Given the description of an element on the screen output the (x, y) to click on. 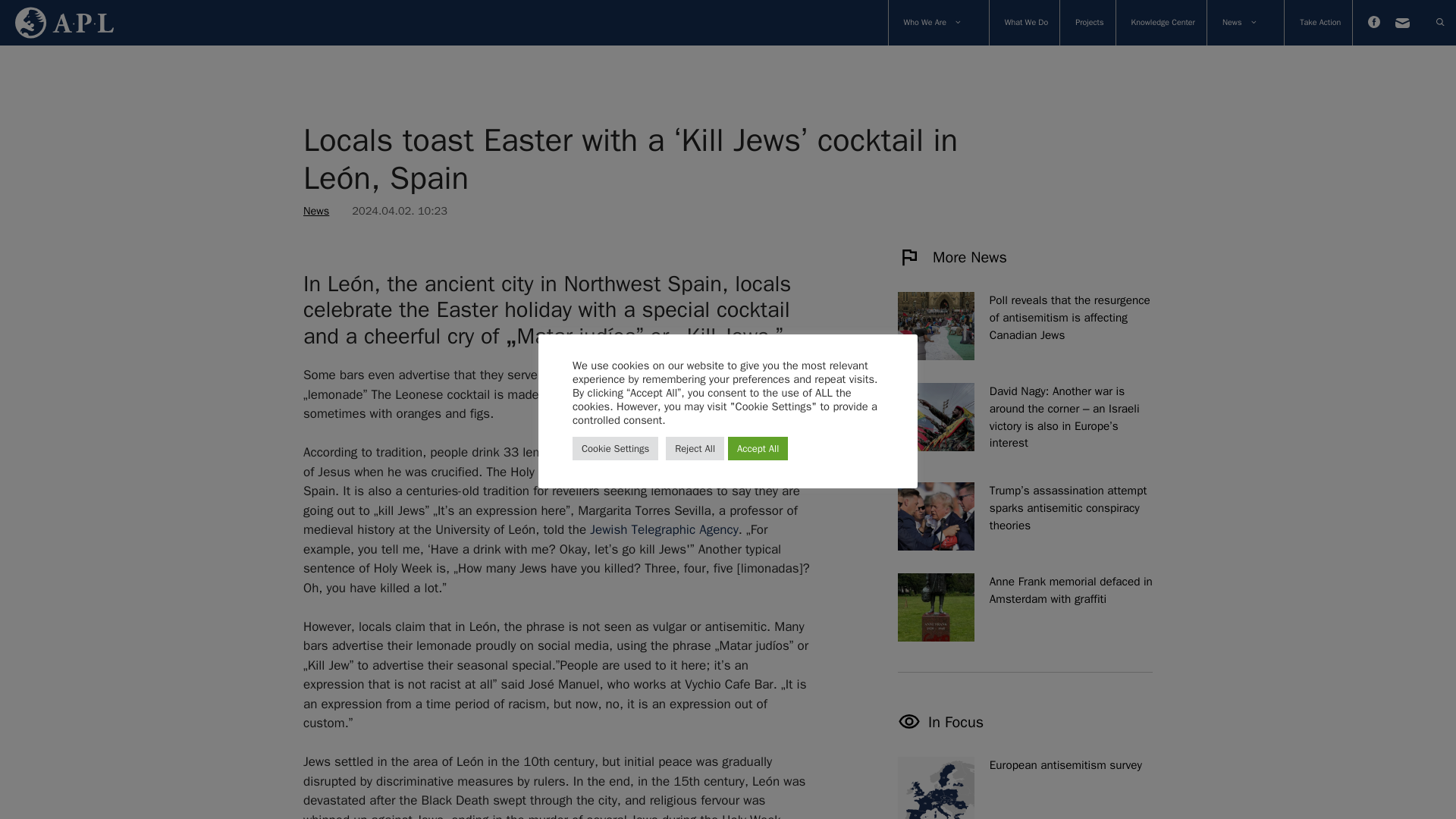
Home (56, 22)
Take Action (1312, 22)
European antisemitism survey (1025, 764)
Anne Frank memorial defaced in Amsterdam with graffiti (1025, 590)
Projects (1081, 22)
Jewish Telegraphic Agency (663, 529)
Knowledge Center (1155, 22)
What We Do (1019, 22)
Anne Frank memorial defaced in Amsterdam with graffiti (936, 607)
More News (952, 257)
European antisemitism survey (936, 787)
News (315, 210)
Who We Are (932, 22)
